Given the description of an element on the screen output the (x, y) to click on. 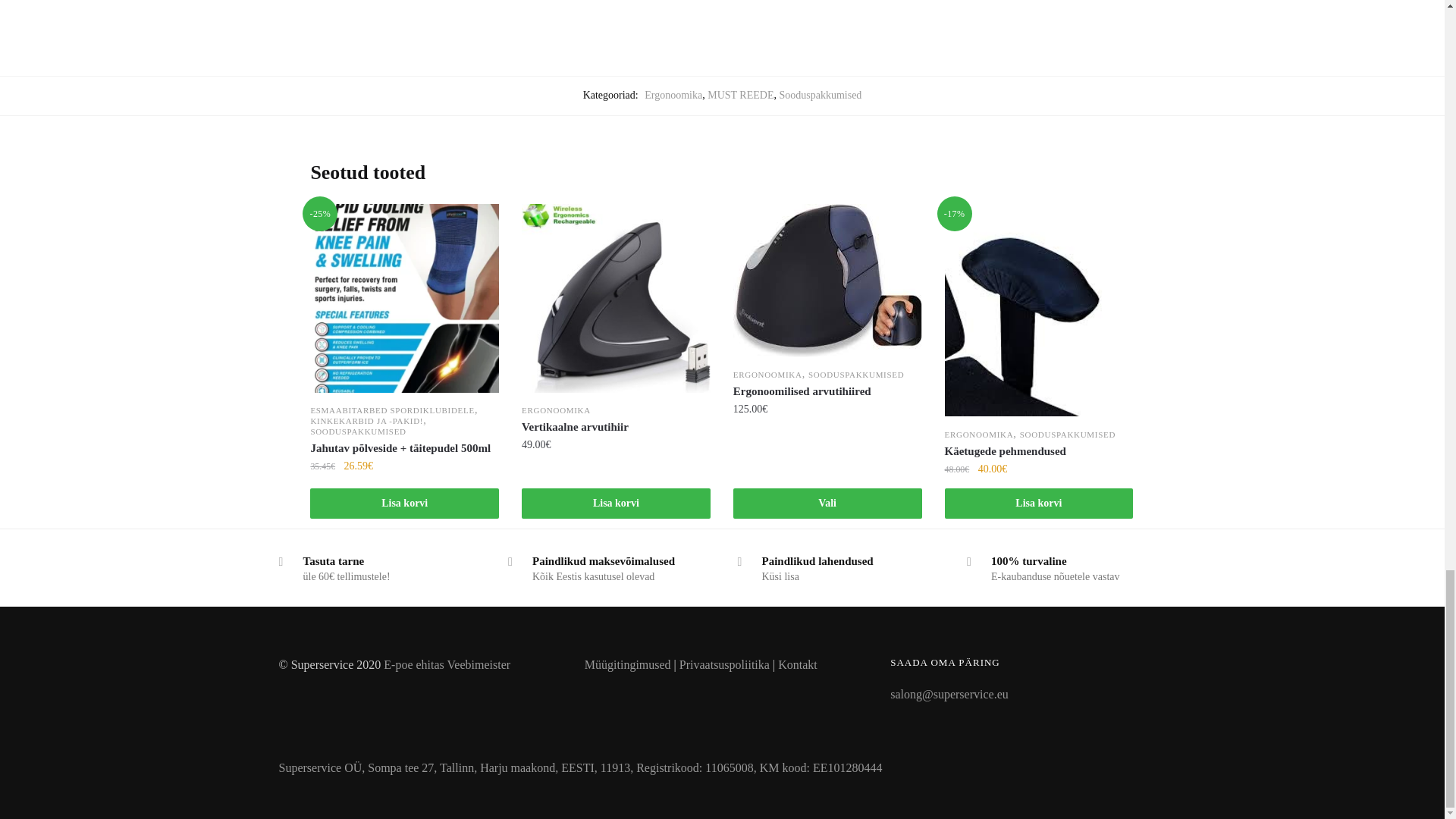
Sooduspakkumised (819, 94)
Ergonoomika (673, 94)
MUST REEDE (740, 94)
Vertikaalne arvutihiir (615, 426)
Ergonoomilised arvutihiired (827, 280)
Vertikaalne arvutihiir (615, 298)
Ergonoomilised arvutihiired (827, 391)
